Given the description of an element on the screen output the (x, y) to click on. 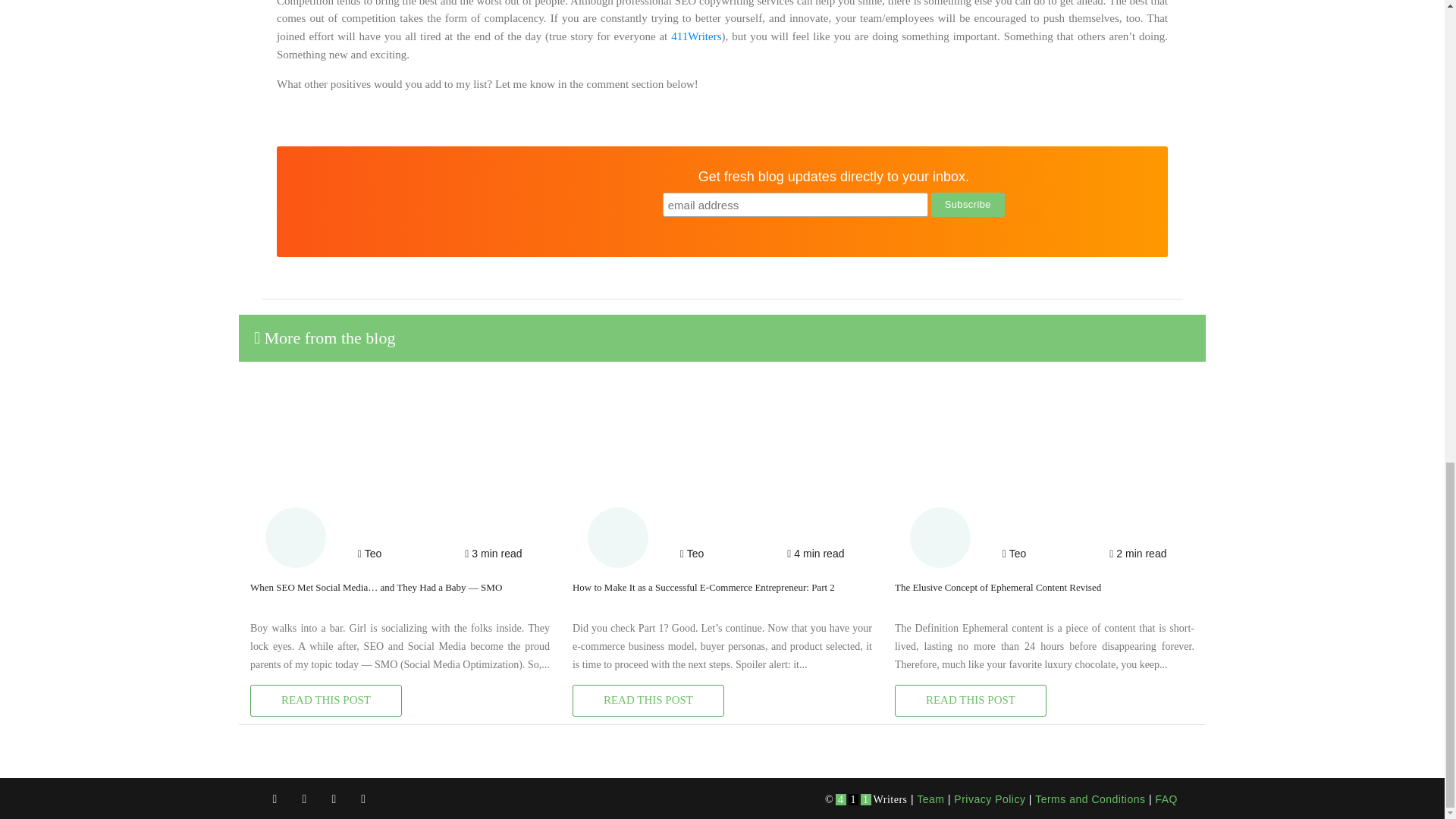
Facebook (275, 798)
Subscribe (967, 204)
Twitter (304, 798)
Welcome to 411Writers (695, 36)
READ THIS POST (647, 700)
Pinterest (363, 798)
Instagram (333, 798)
Team (930, 799)
Subscribe (967, 204)
411Writers (695, 36)
